Given the description of an element on the screen output the (x, y) to click on. 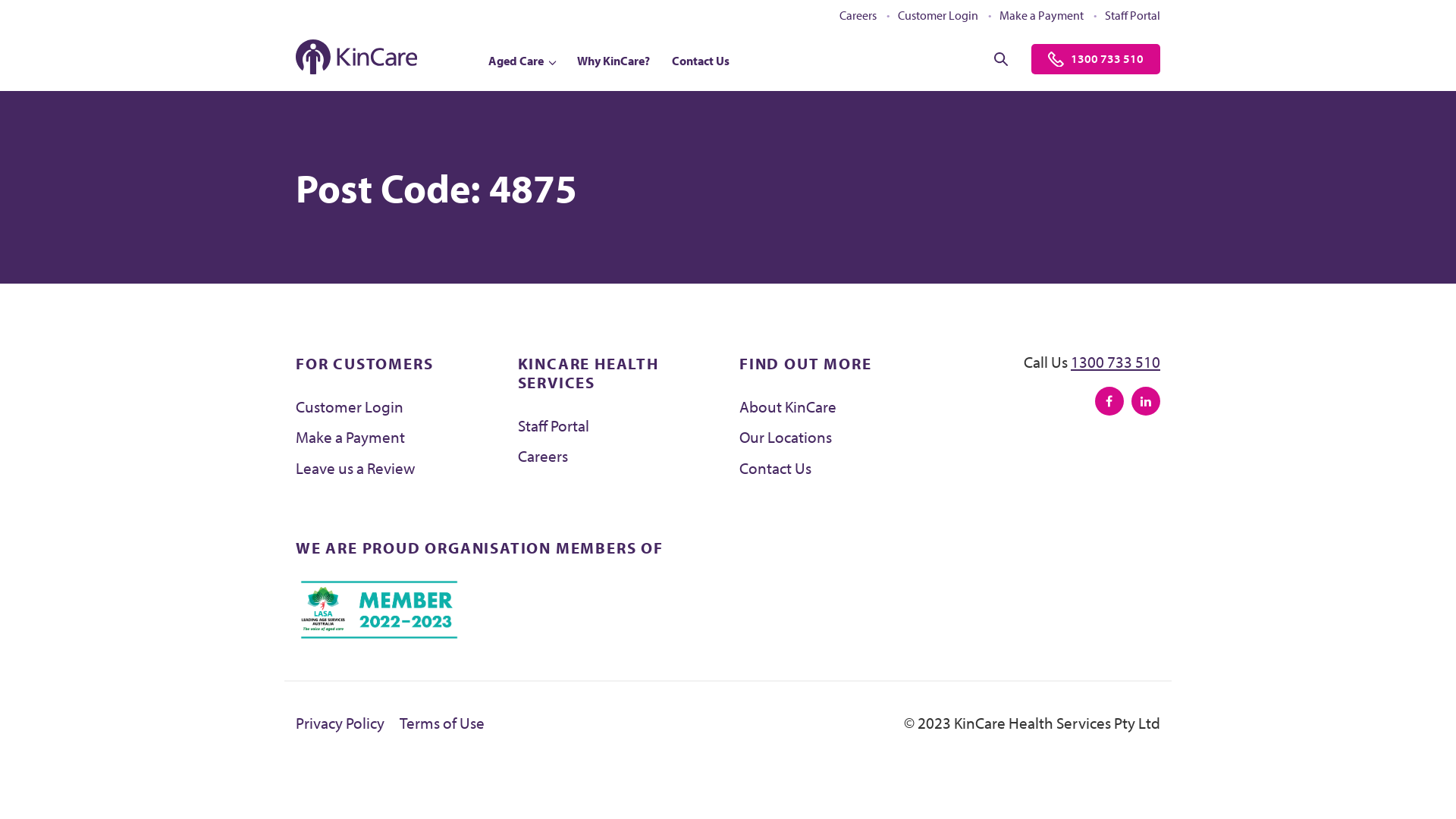
Show search Element type: text (1000, 58)
Make a Payment Element type: text (349, 436)
Leave us a Review Element type: text (354, 467)
Aged Care Element type: text (521, 60)
Careers Element type: text (857, 15)
Staff Portal Element type: text (552, 425)
Why KinCare? Element type: text (613, 60)
Our Locations Element type: text (785, 436)
Privacy Policy Element type: text (339, 722)
Contact Us Element type: text (700, 60)
Customer Login Element type: text (349, 406)
 1300 733 510 Element type: text (1095, 58)
Staff Portal Element type: text (1132, 15)
Customer Login Element type: text (938, 15)
Careers Element type: text (542, 455)
Make a Payment Element type: text (1041, 15)
About KinCare Element type: text (787, 406)
Contact Us Element type: text (775, 467)
Terms of Use Element type: text (441, 722)
1300 733 510 Element type: text (1115, 361)
